Given the description of an element on the screen output the (x, y) to click on. 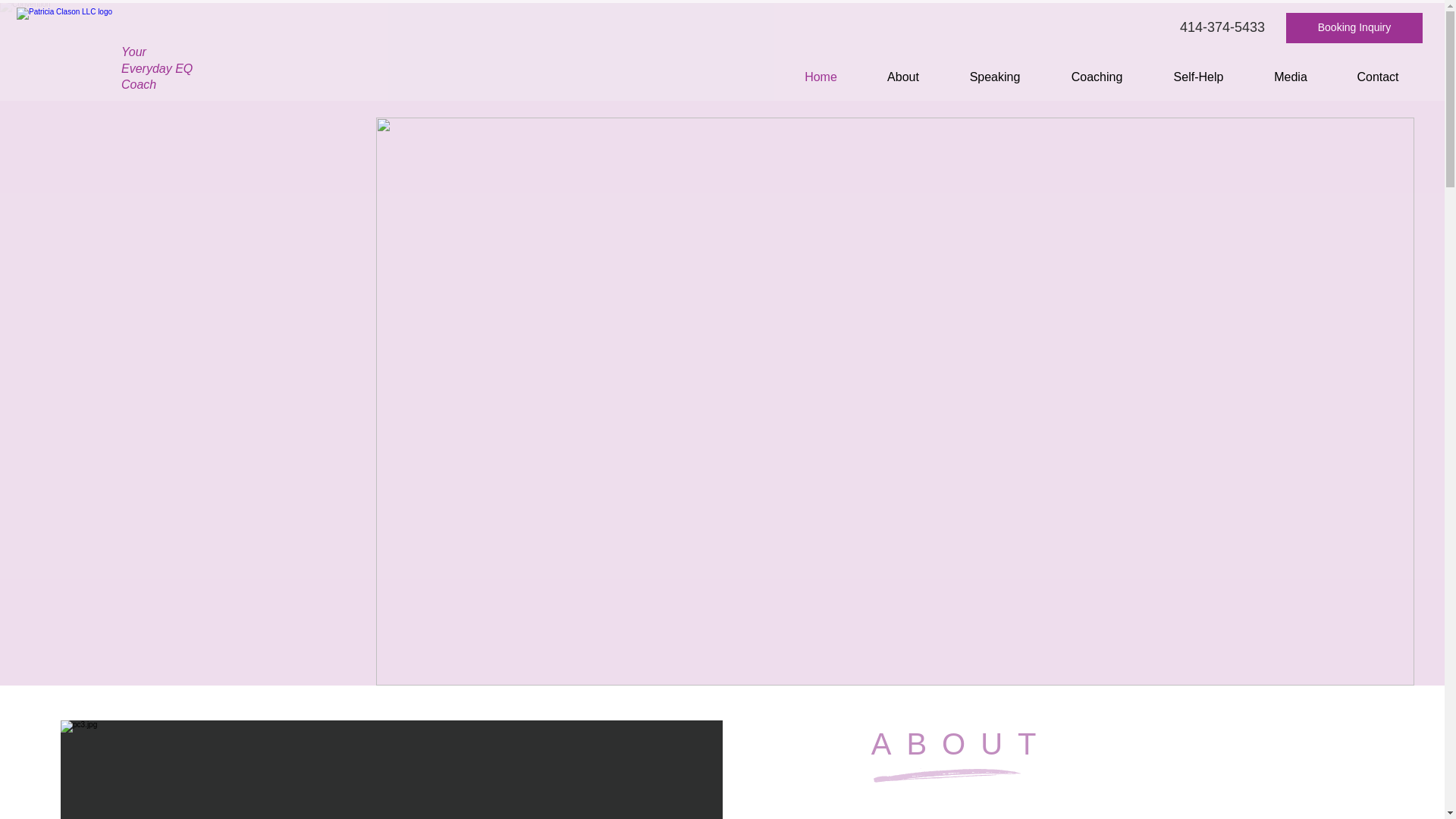
Media (1290, 76)
Self-Help (1198, 76)
Contact (1377, 76)
About (902, 76)
Home (819, 76)
Booking Inquiry (1353, 28)
Speaking (994, 76)
Your Everyday EQ Coach (156, 67)
Coaching (1096, 76)
